Given the description of an element on the screen output the (x, y) to click on. 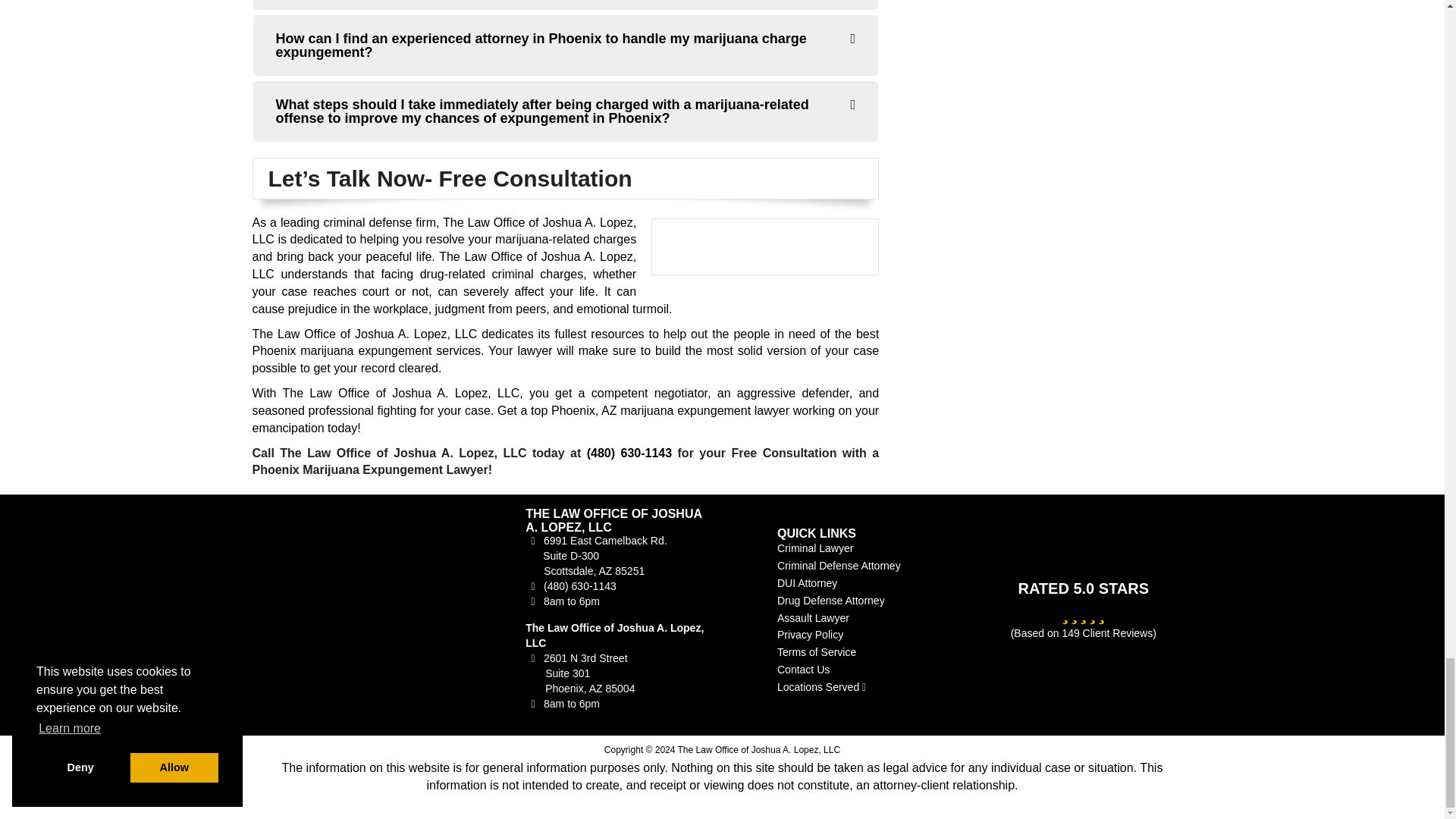
DUI Attorney (807, 582)
The Law Office of Joshua A. Lopez, LLC (359, 607)
The Law Office of Joshua A. Lopez, LLC (360, 607)
Criminal Lawyer (815, 548)
Criminal Defense Attorney (839, 565)
